Given the description of an element on the screen output the (x, y) to click on. 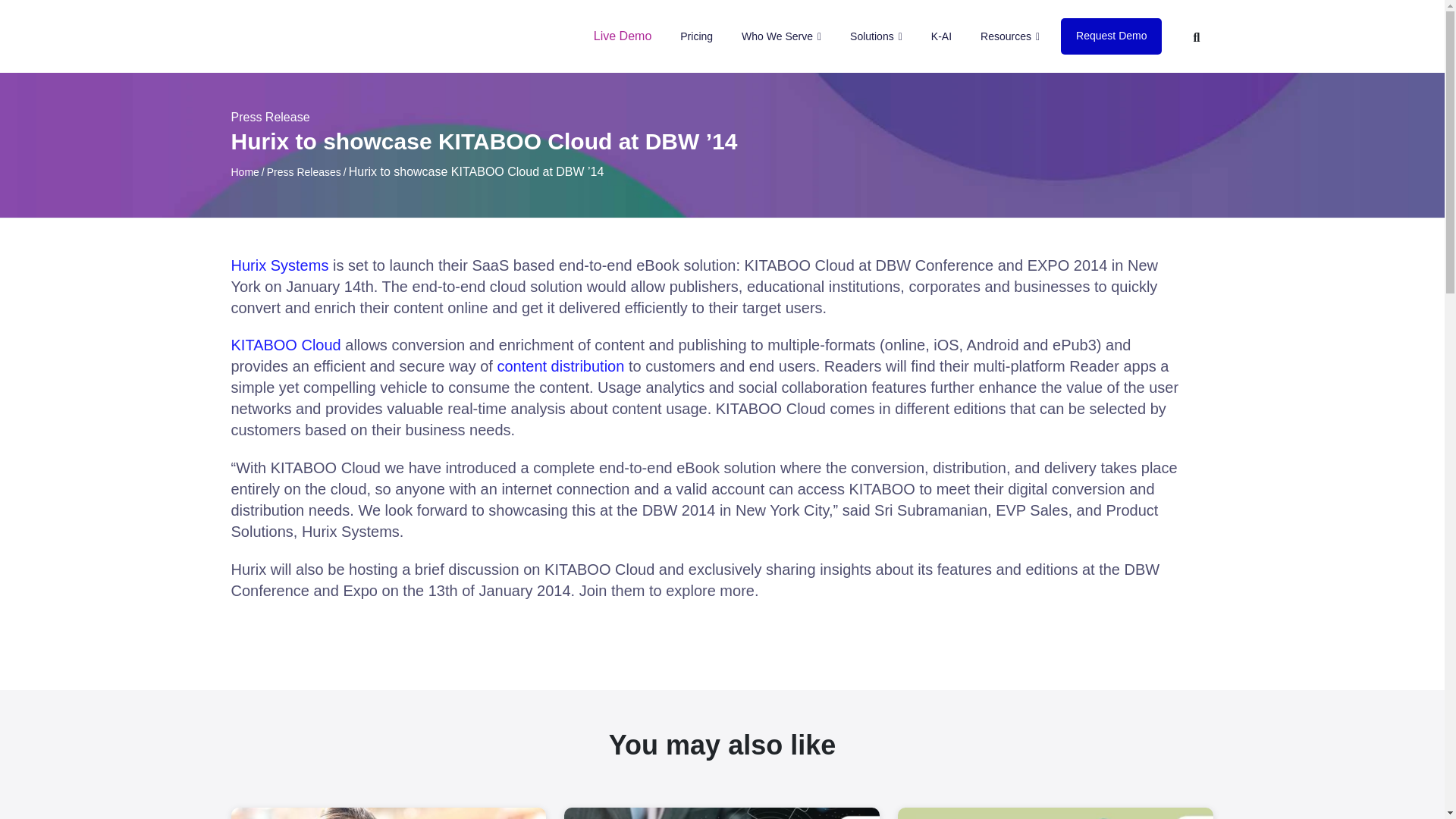
About Hurix Systems (279, 265)
Hurix Systems (279, 265)
Who We Serve (780, 36)
Request Demo (1111, 36)
Press Releases (303, 172)
Resources (1009, 36)
Kitaboo (288, 36)
Solutions (876, 36)
content distribution (560, 365)
Live Demo (622, 36)
